Given the description of an element on the screen output the (x, y) to click on. 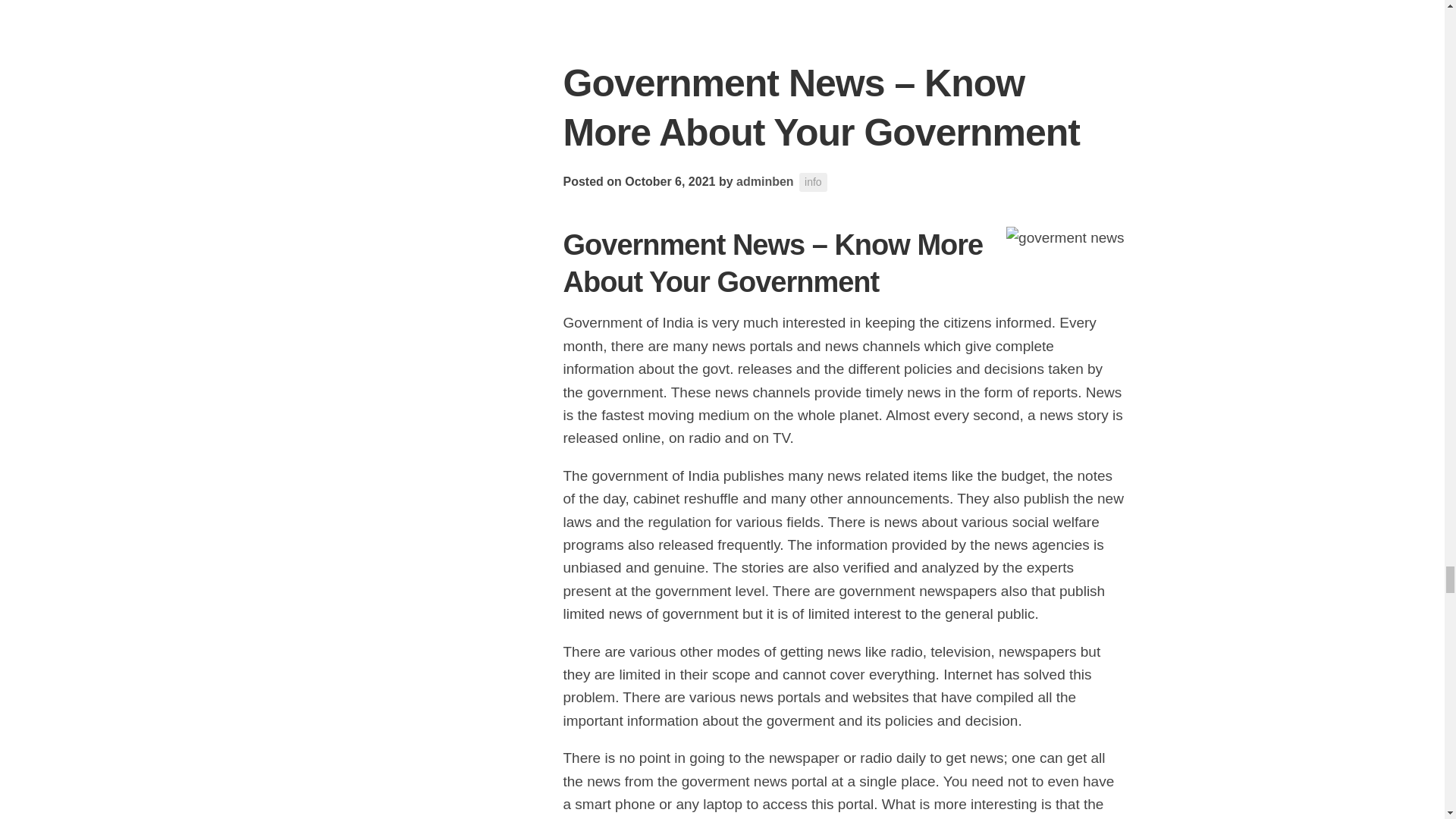
Posts by adminben (764, 181)
